Given the description of an element on the screen output the (x, y) to click on. 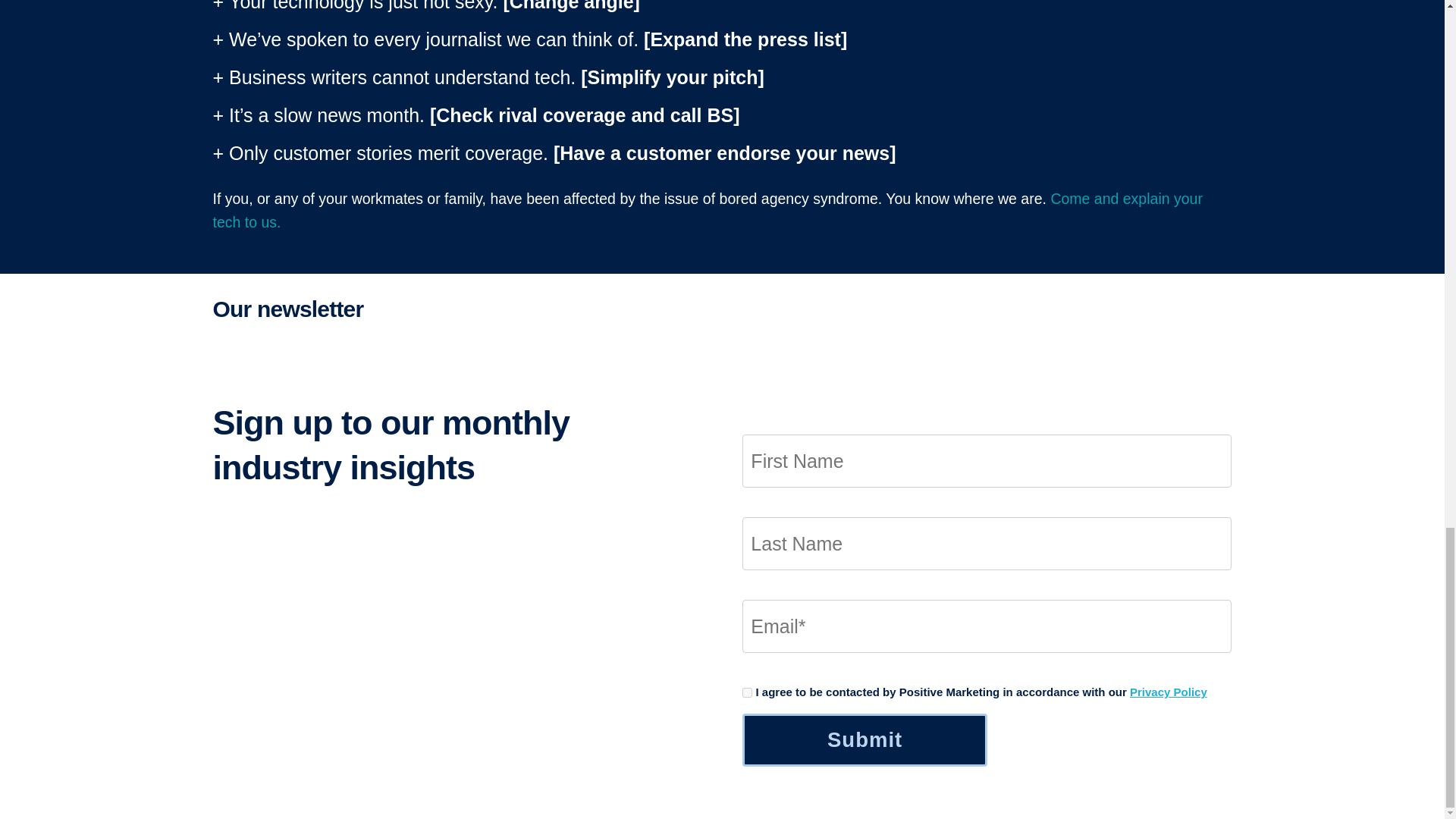
Come and explain your tech to us. (707, 210)
Privacy Policy (1168, 691)
Submit (864, 739)
